Given the description of an element on the screen output the (x, y) to click on. 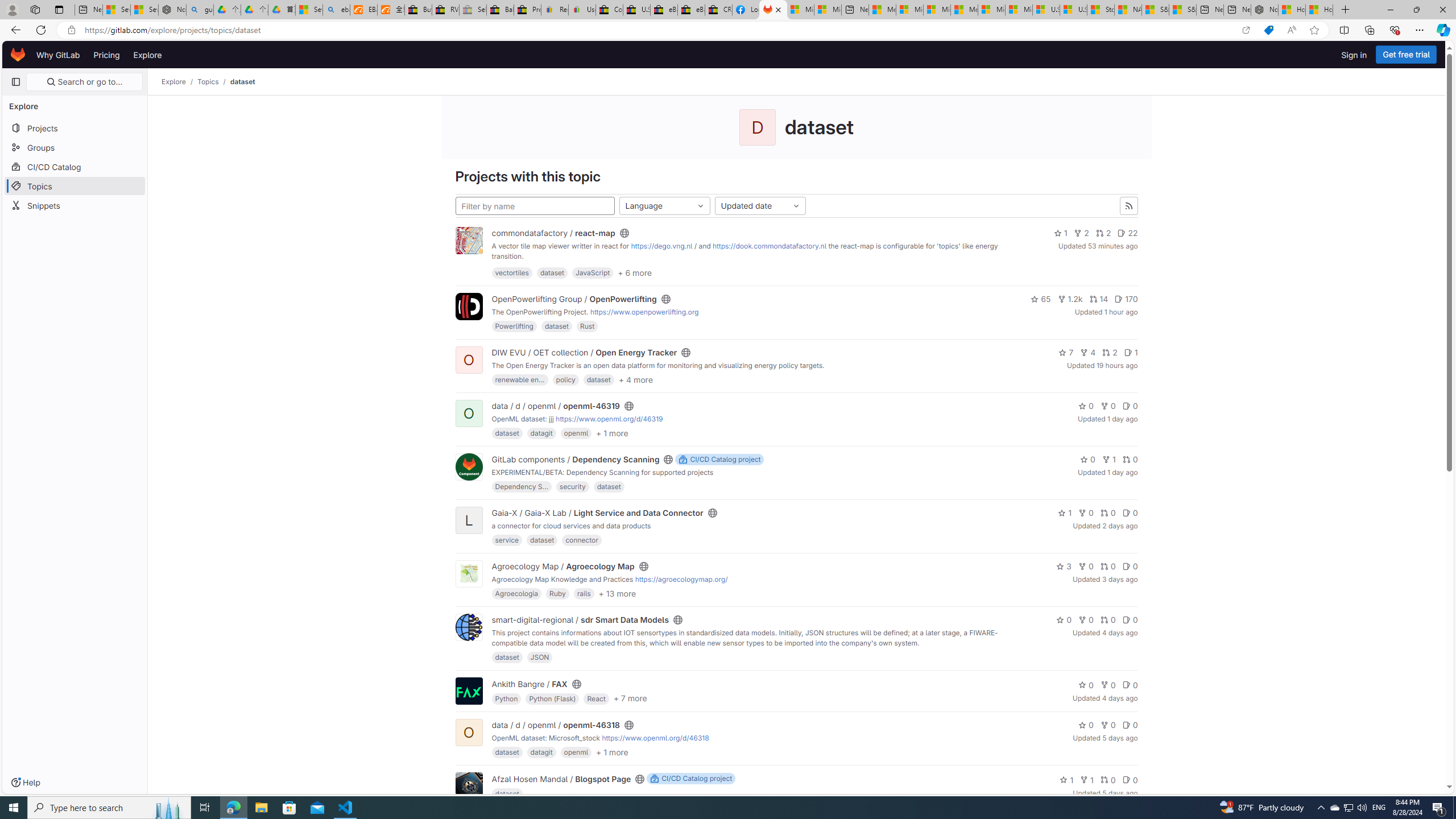
Python (506, 697)
https://agroecologymap.org/ (681, 578)
Pricing (106, 54)
Class: s16 gl-icon gl-badge-icon (654, 778)
datagit (541, 751)
eBay Inc. Reports Third Quarter 2023 Results (691, 9)
Explore (173, 81)
Projects (74, 127)
Tab actions menu (58, 9)
+ 6 more (634, 271)
65 (1040, 299)
Get free trial (1406, 54)
